Given the description of an element on the screen output the (x, y) to click on. 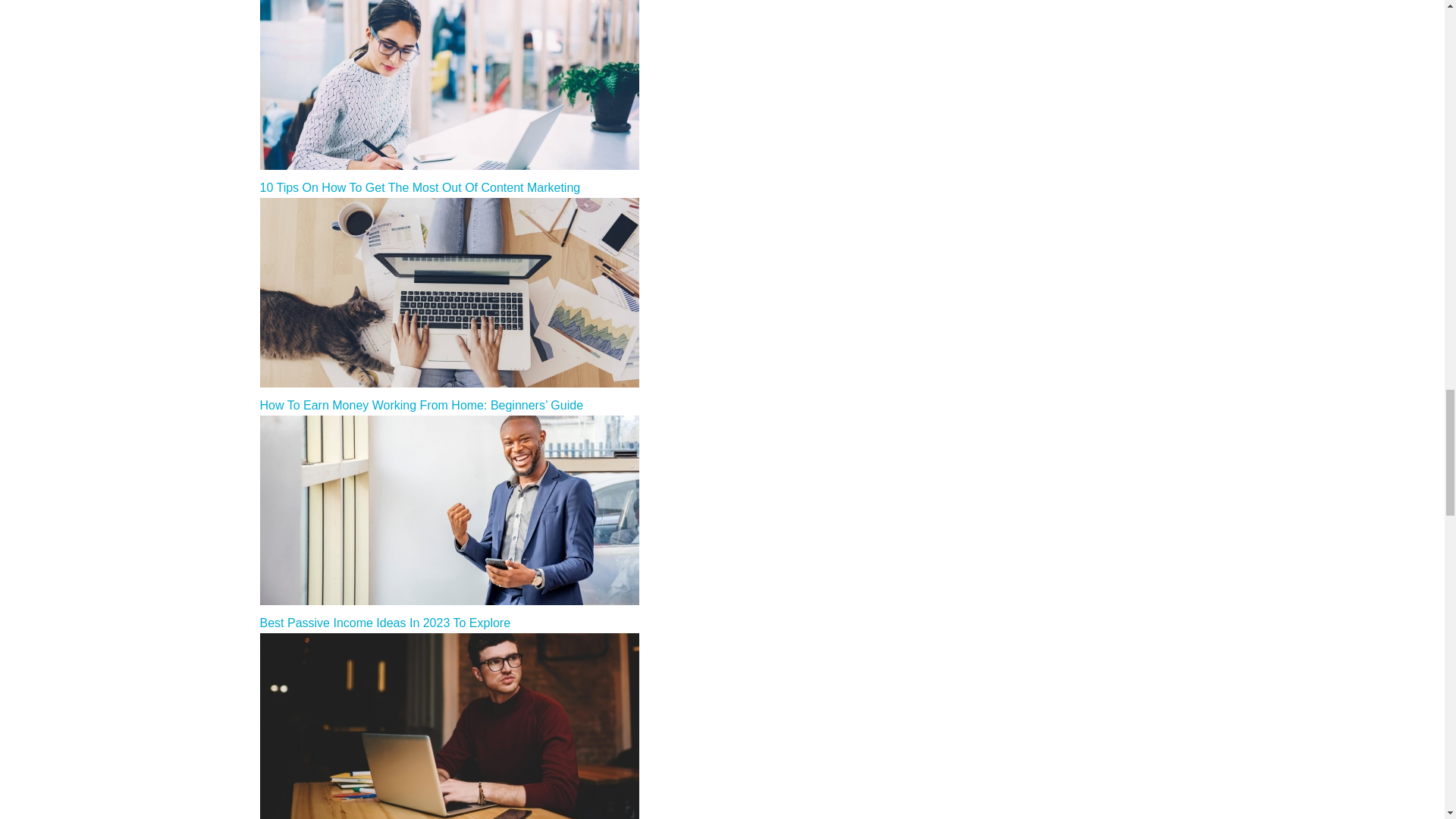
Best Passive Income Ideas In 2023 To Explore (385, 622)
10 Tips On How To Get The Most Out Of Content Marketing (419, 187)
